Given the description of an element on the screen output the (x, y) to click on. 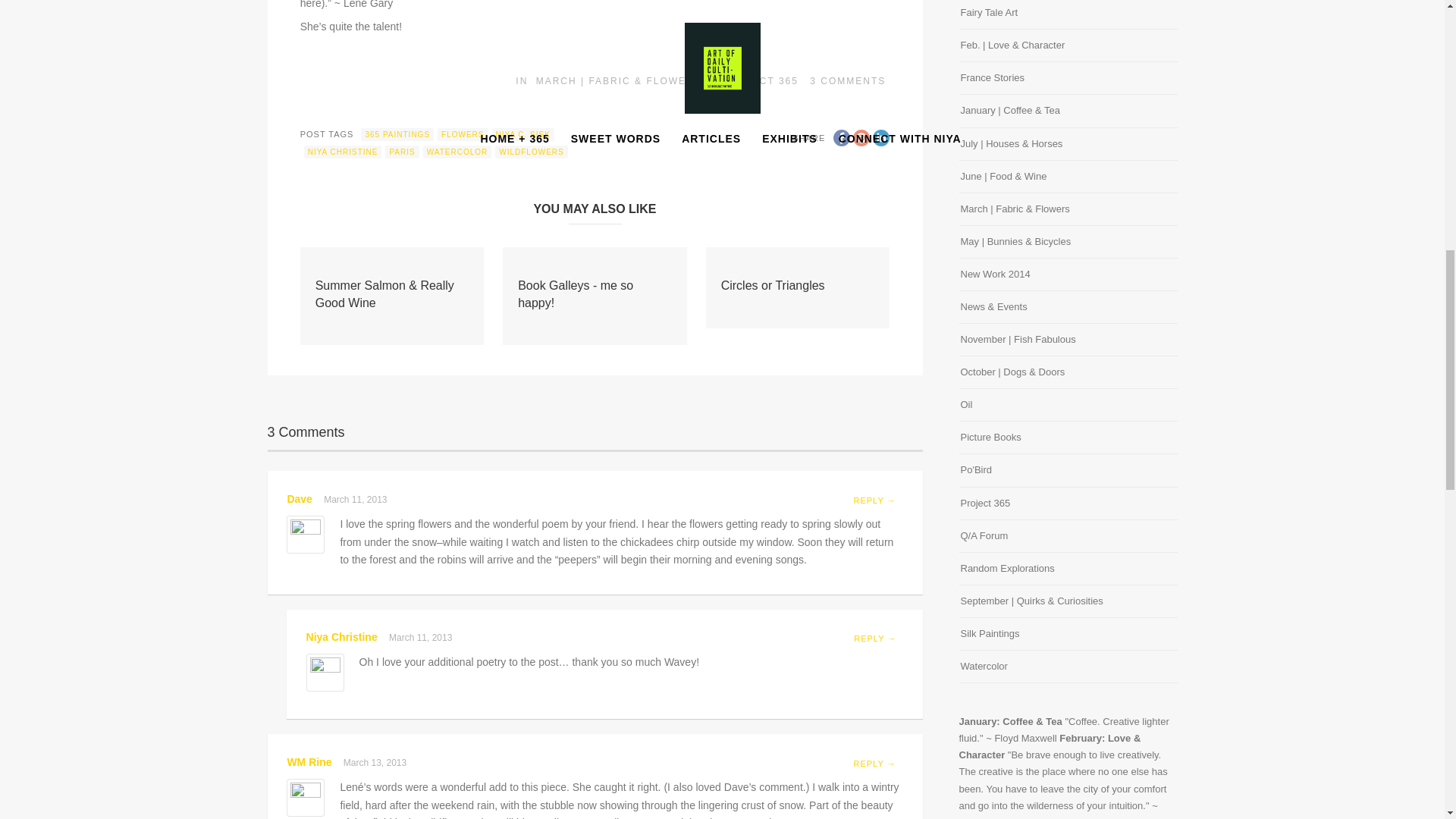
Pinterest (861, 137)
Facebook (841, 137)
LinkedIn (880, 137)
